Given the description of an element on the screen output the (x, y) to click on. 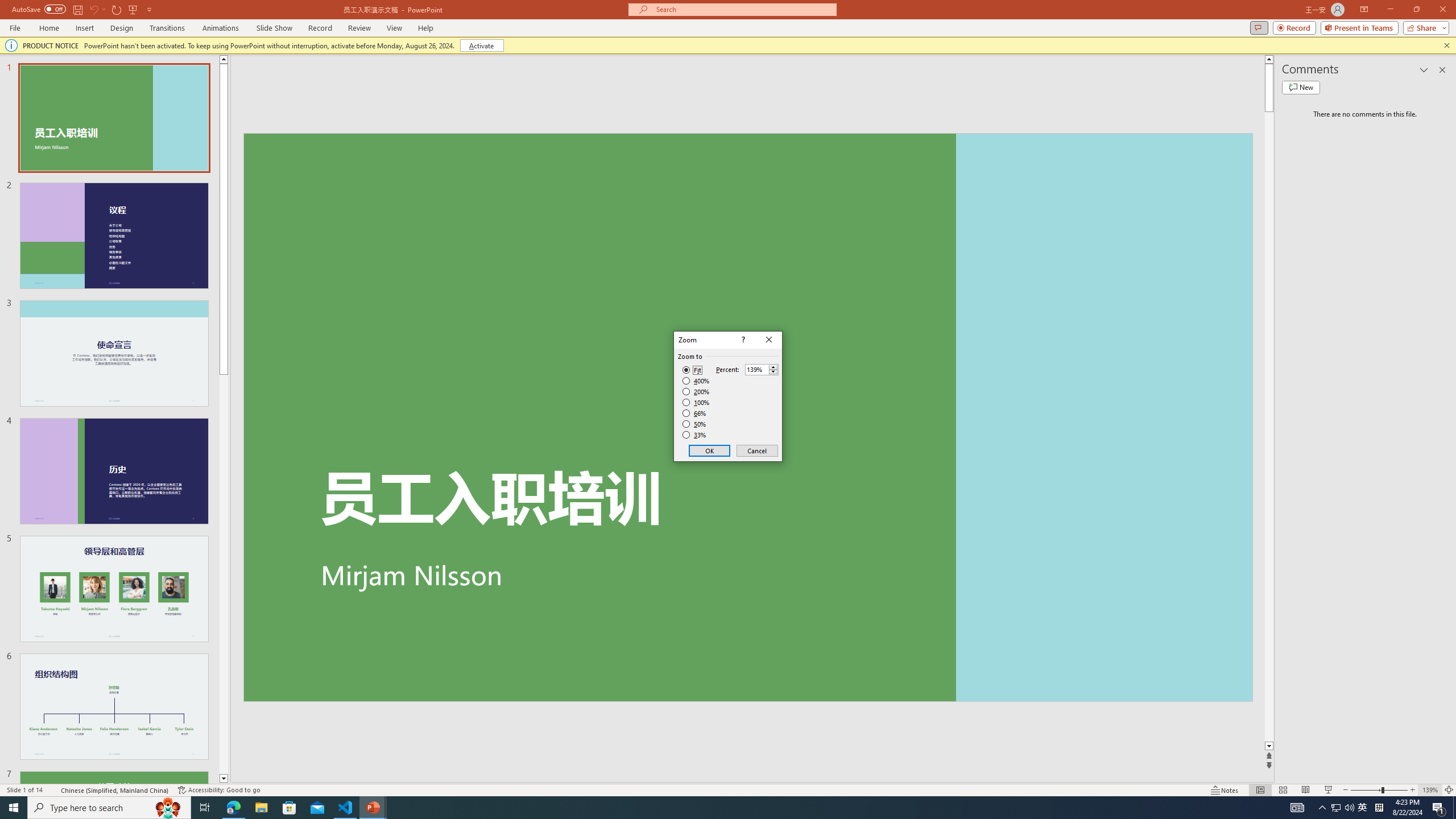
Microsoft 365 (413, 118)
Alignment (251, 615)
Windows (232, 334)
Buy Microsoft 365 (1000, 119)
Support (320, 121)
Adjust indents and spacing - Microsoft Support (23, 348)
Office (491, 117)
